Given the description of an element on the screen output the (x, y) to click on. 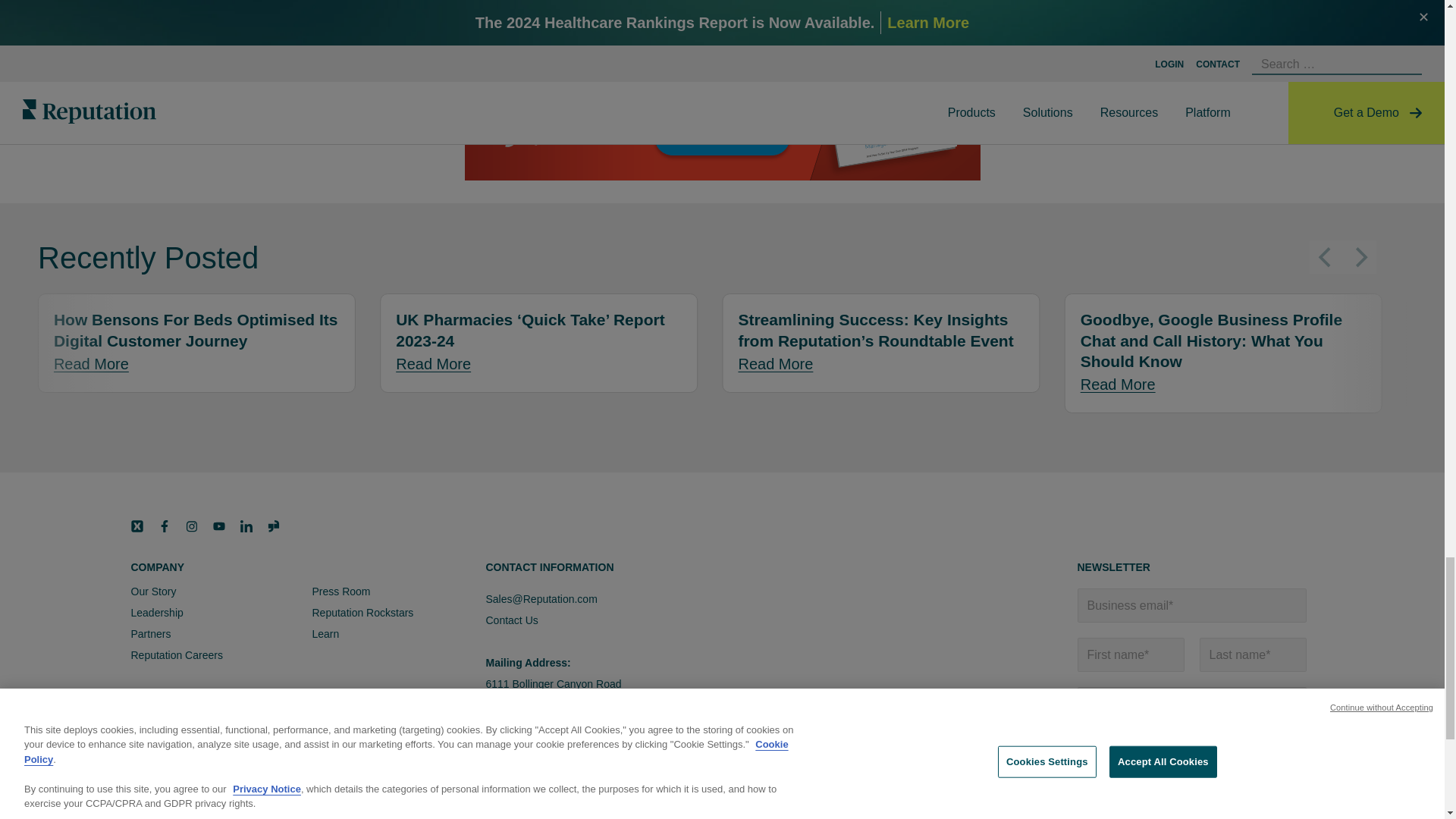
Layer 1 (272, 526)
Submit (1112, 790)
